Given the description of an element on the screen output the (x, y) to click on. 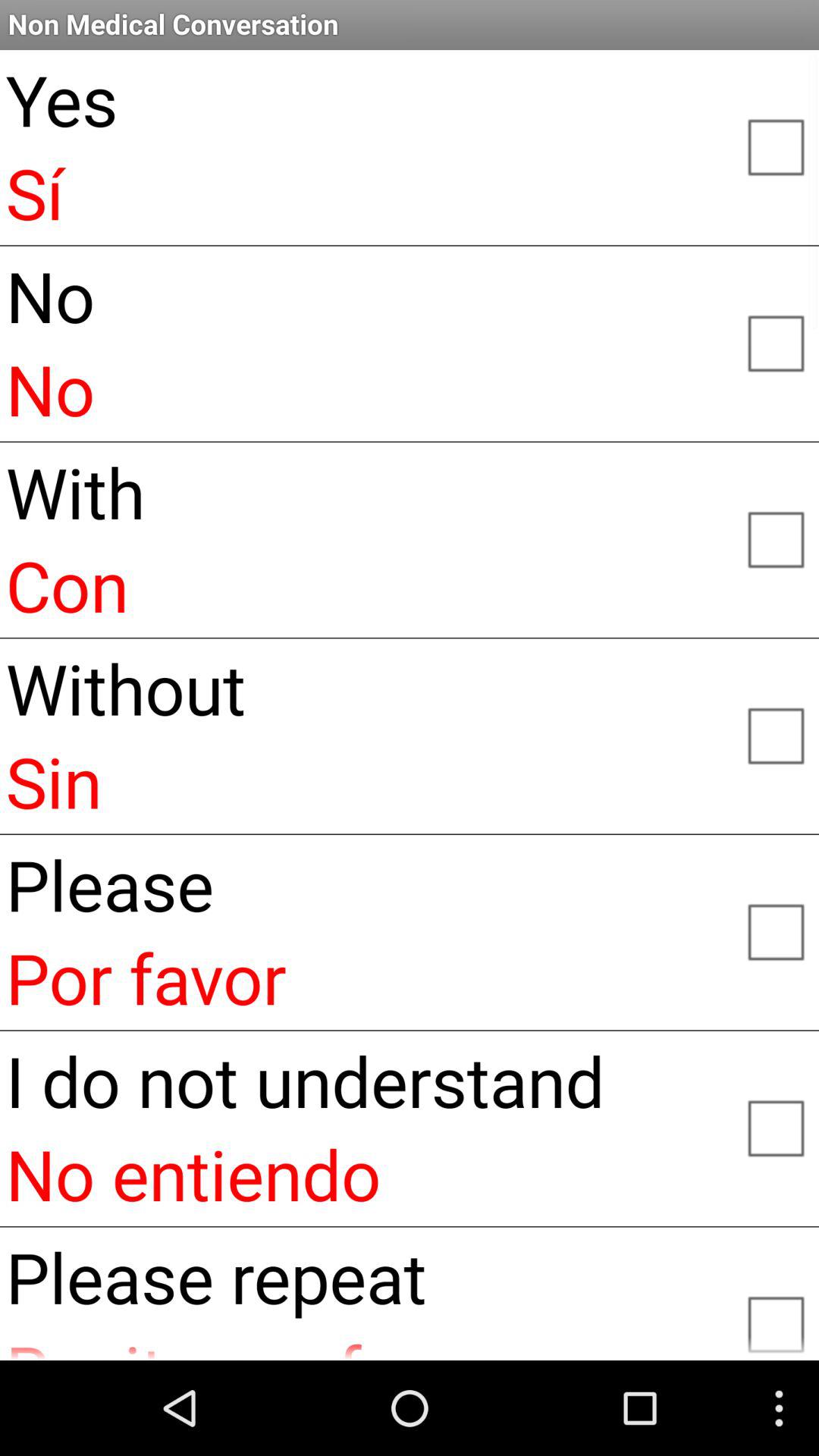
please repeat option (775, 1317)
